Given the description of an element on the screen output the (x, y) to click on. 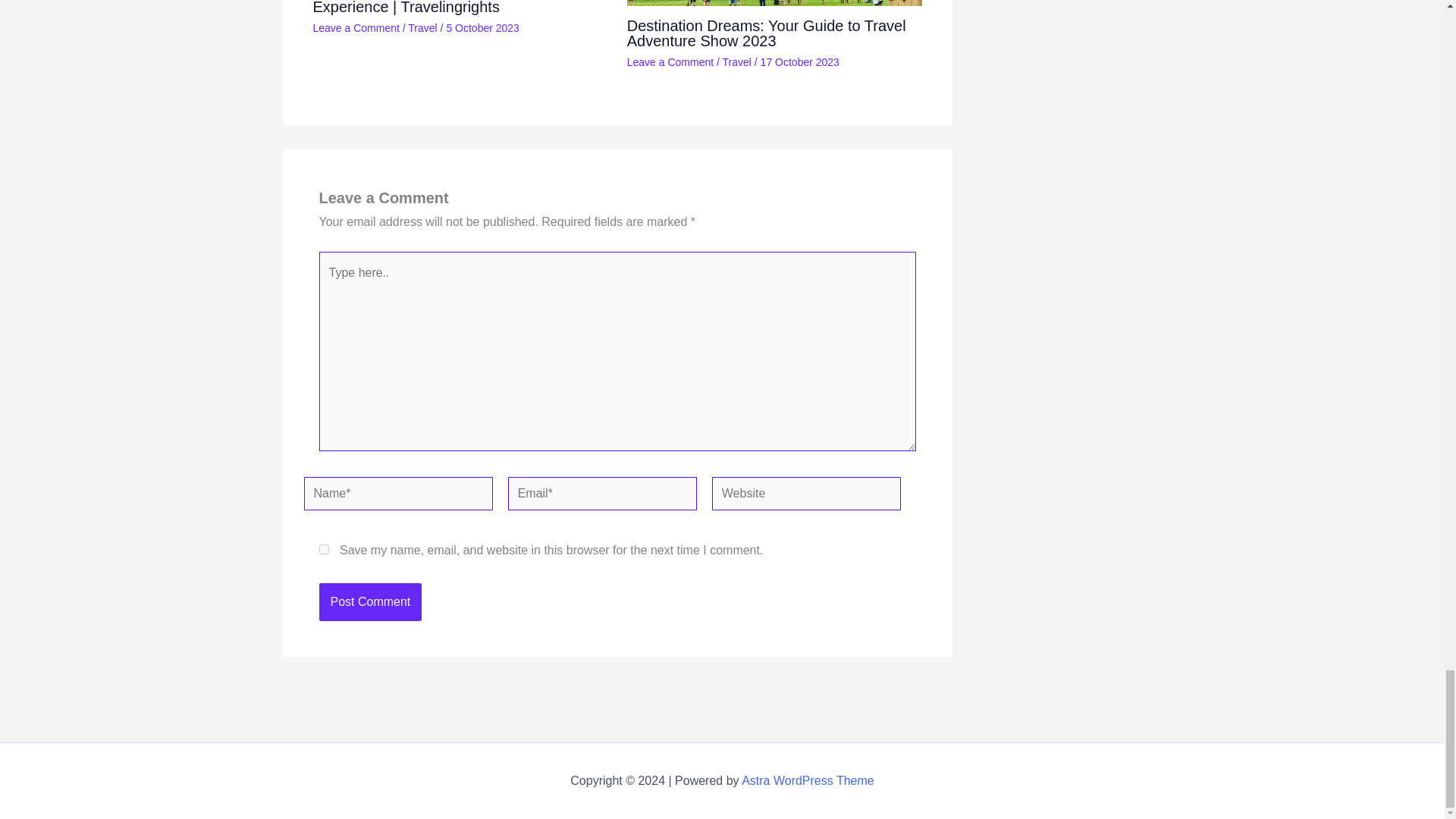
Travel (421, 28)
Destination Dreams: Your Guide to Travel Adventure Show 2023 (766, 33)
Post Comment (370, 601)
Post Comment (370, 601)
Leave a Comment (670, 61)
Leave a Comment (355, 28)
yes (323, 549)
Travel (736, 61)
